Given the description of an element on the screen output the (x, y) to click on. 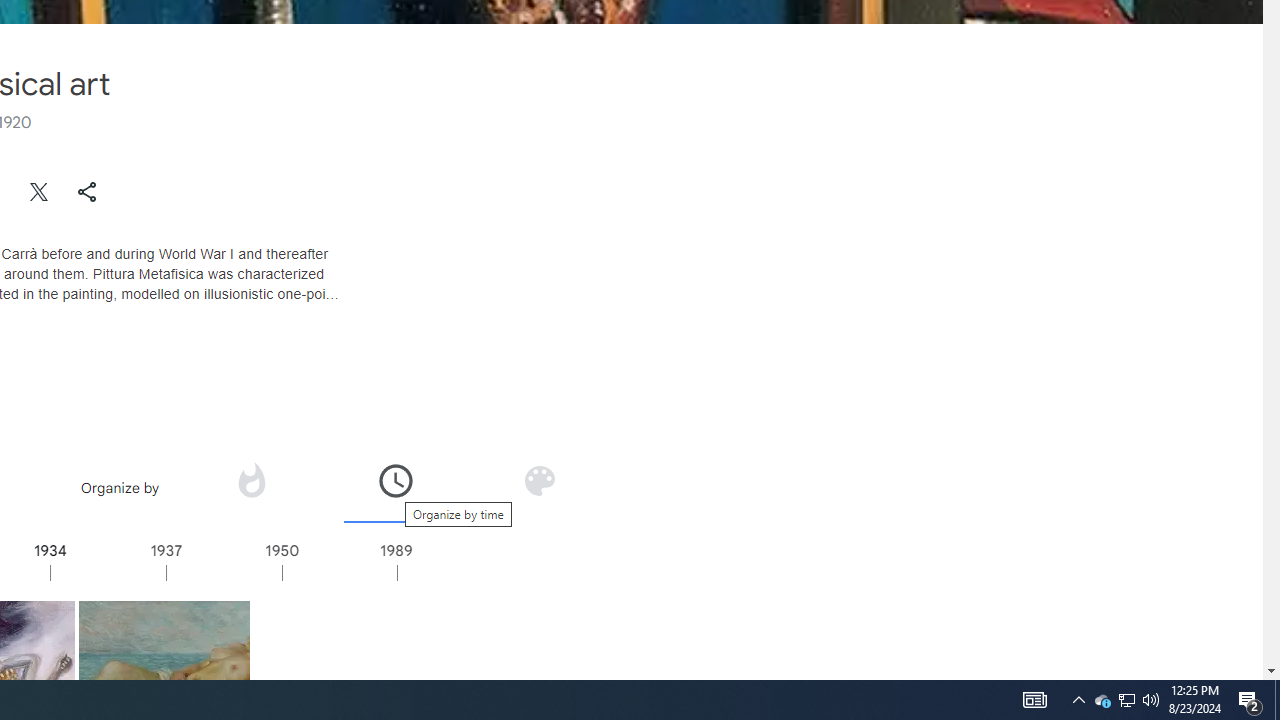
Share "Metaphysical art" (87, 191)
1950 (339, 572)
1937 (223, 572)
Organize by popularity (250, 480)
Organize by popularity (251, 487)
Organize by color (538, 487)
Share on Twitter (39, 191)
Organize by time (395, 480)
Organize by time (395, 487)
1934 (107, 572)
Organize by color (539, 480)
